Given the description of an element on the screen output the (x, y) to click on. 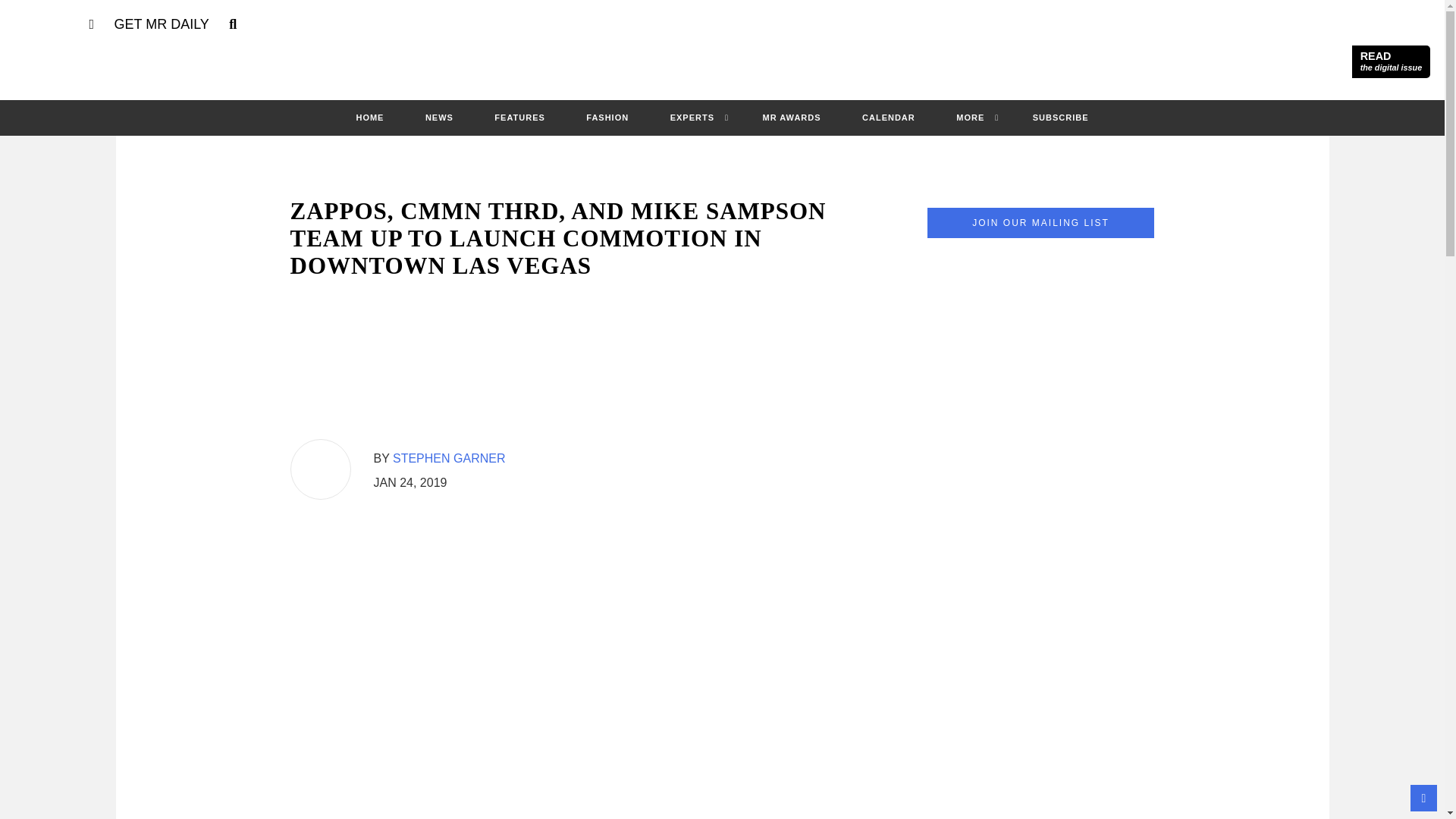
FASHION (607, 117)
MR Magazine (721, 62)
GET MR DAILY (160, 23)
NEWS (439, 117)
FEATURES (518, 117)
SUBSCRIBE (1060, 117)
CALENDAR (888, 117)
MR AWARDS (791, 117)
STEPHEN GARNER (449, 458)
